Given the description of an element on the screen output the (x, y) to click on. 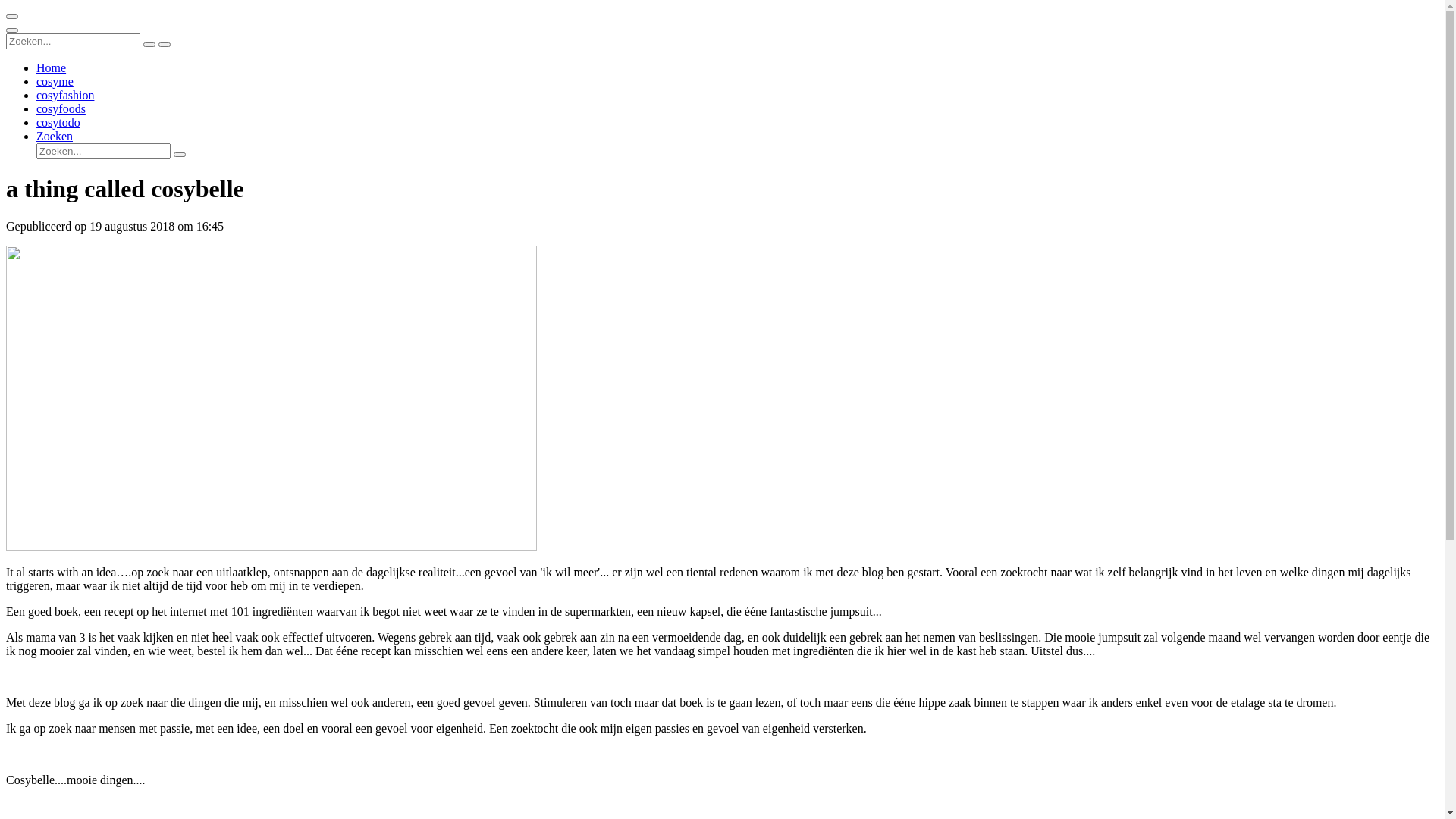
cosyme Element type: text (54, 81)
Home Element type: text (50, 67)
cosytodo Element type: text (58, 122)
cosyfoods Element type: text (60, 108)
Zoeken Element type: text (54, 135)
cosyfashion Element type: text (65, 94)
